Given the description of an element on the screen output the (x, y) to click on. 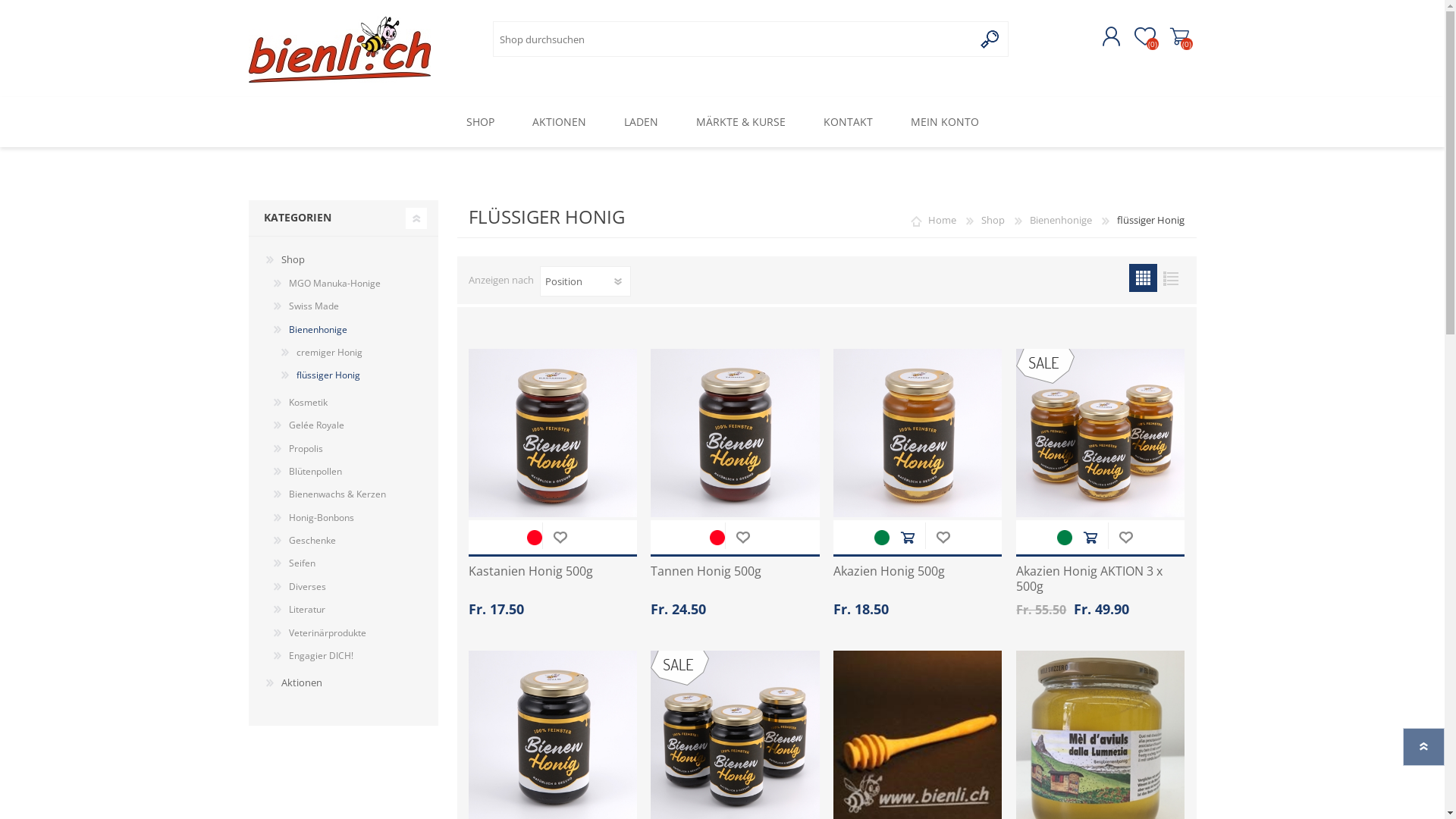
WUNSCHLISTE Element type: text (559, 537)
Shop Element type: text (992, 219)
Kaufen Element type: text (1089, 537)
Tabelle Element type: text (1142, 277)
Warenkorb Element type: text (1178, 36)
KONTAKT Element type: text (847, 122)
Geschenke Element type: text (304, 540)
Kaufen Element type: text (907, 537)
Shop Element type: text (285, 259)
WUNSCHLISTE Element type: text (942, 537)
SHOP Element type: text (480, 122)
Bienenhonige Element type: text (310, 329)
AKTIONEN Element type: text (558, 122)
Swiss Made Element type: text (306, 305)
Liste Element type: text (1171, 277)
Home Element type: text (942, 219)
Honig-Bonbons Element type: text (313, 517)
MEIN KONTO Element type: text (944, 122)
Kosmetik Element type: text (300, 402)
Bienenhonige Element type: text (1060, 219)
Akazien Honig AKTION 3 x 500g Element type: text (1100, 578)
Wunschliste
(0) Element type: text (1145, 36)
WUNSCHLISTE Element type: text (1125, 537)
Aktionen Element type: text (293, 683)
Tannen Honig 500g Element type: text (734, 571)
WUNSCHLISTE Element type: text (742, 537)
Bienenwachs & Kerzen Element type: text (329, 494)
Literatur Element type: text (299, 609)
Propolis Element type: text (298, 448)
LADEN Element type: text (641, 122)
Engagier DICH! Element type: text (313, 655)
Seifen Element type: text (294, 563)
Kastanien Honig 500g Element type: text (552, 571)
cremiger Honig Element type: text (321, 352)
Diverses Element type: text (299, 586)
Akazien Honig 500g Element type: text (917, 571)
MGO Manuka-Honige Element type: text (326, 283)
Suchen Element type: text (990, 38)
